Given the description of an element on the screen output the (x, y) to click on. 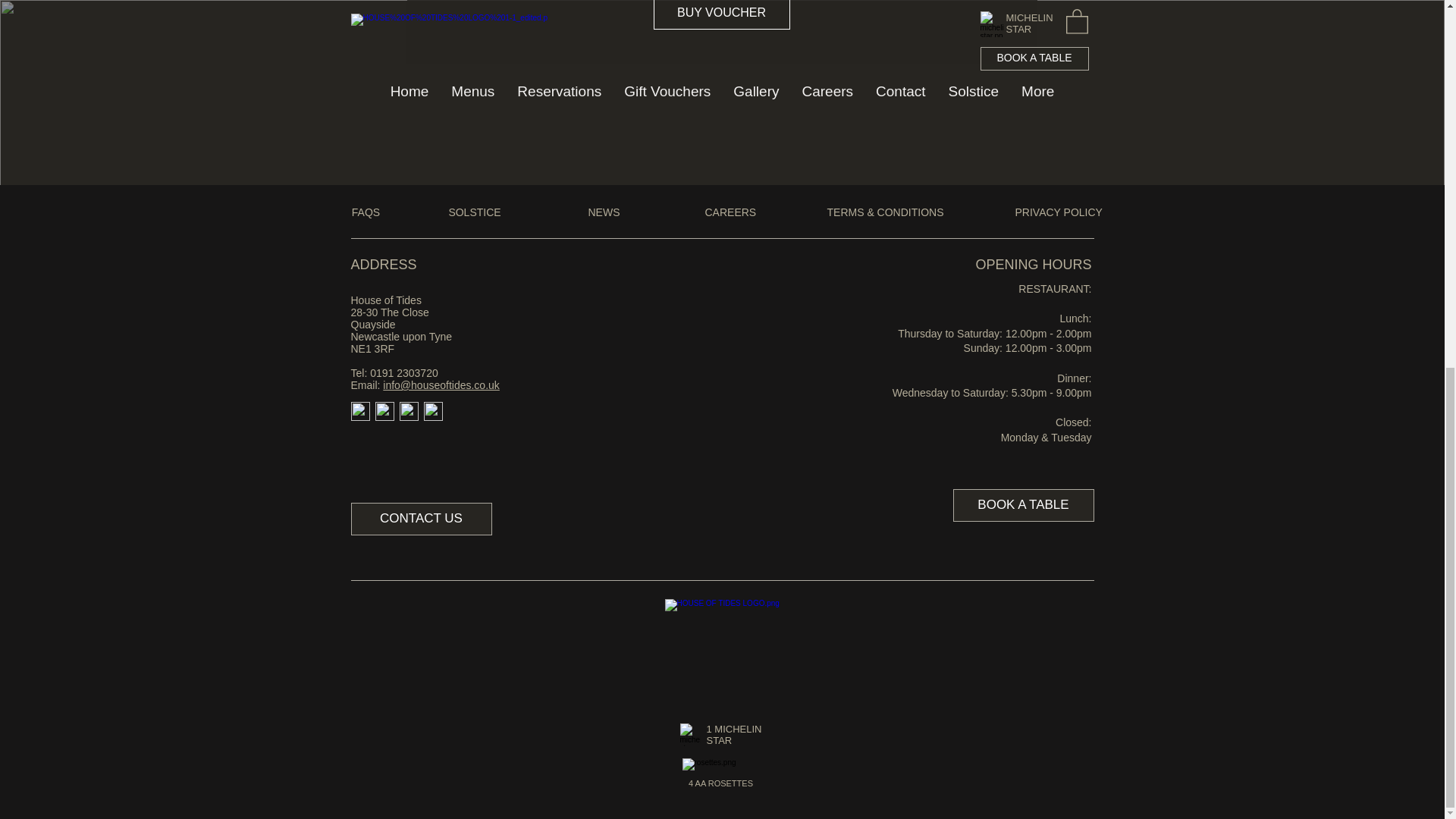
BUY VOUCHER (721, 14)
PRIVACY POLICY (1058, 213)
CAREERS (730, 213)
FAQS (365, 213)
CONTACT US (421, 518)
BOOK A TABLE (1022, 504)
SOLSTICE (473, 213)
